Given the description of an element on the screen output the (x, y) to click on. 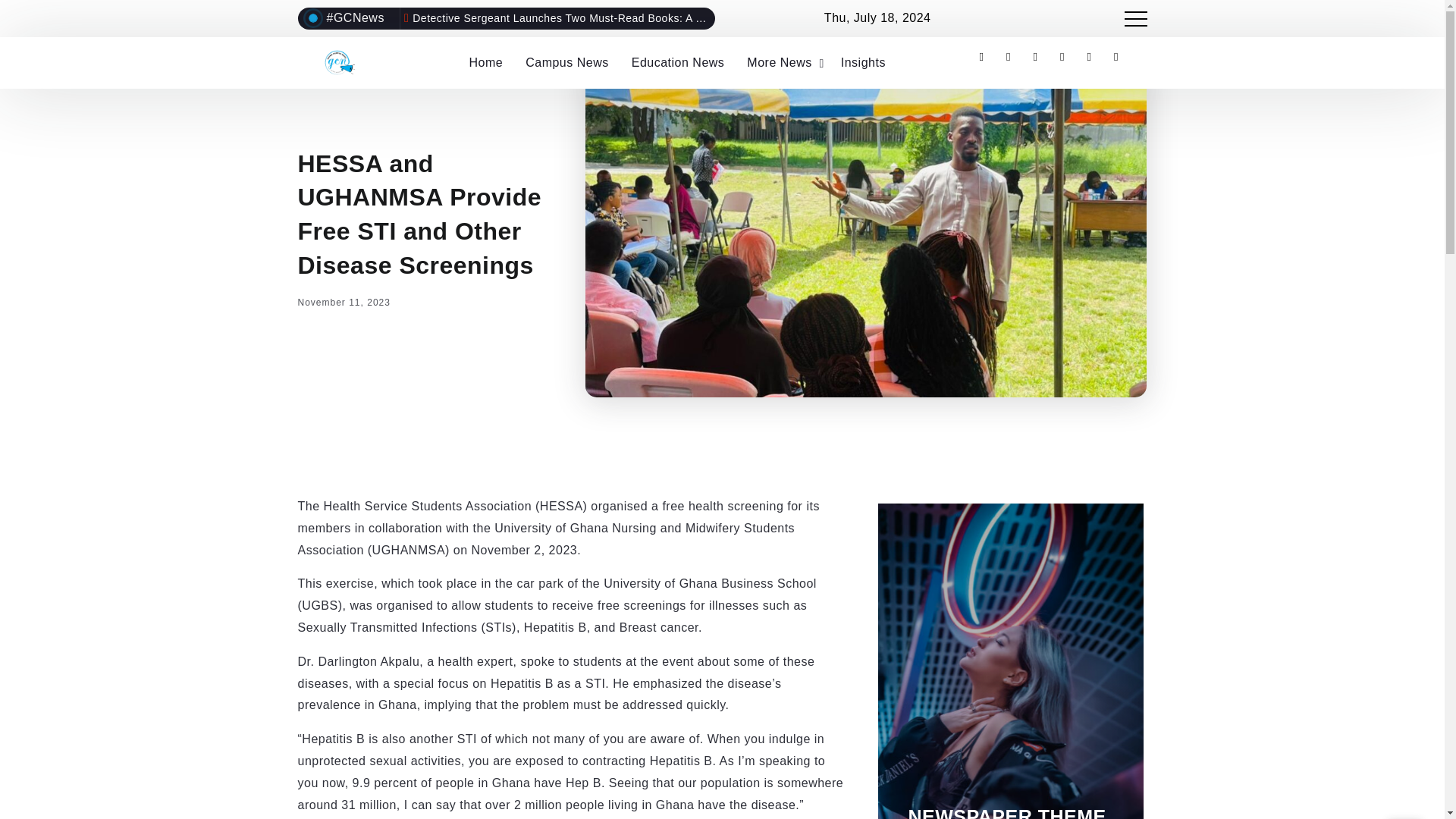
Campus News (566, 62)
Education News (678, 62)
More News (782, 62)
Home (485, 62)
Ghana Campus News (338, 61)
